Given the description of an element on the screen output the (x, y) to click on. 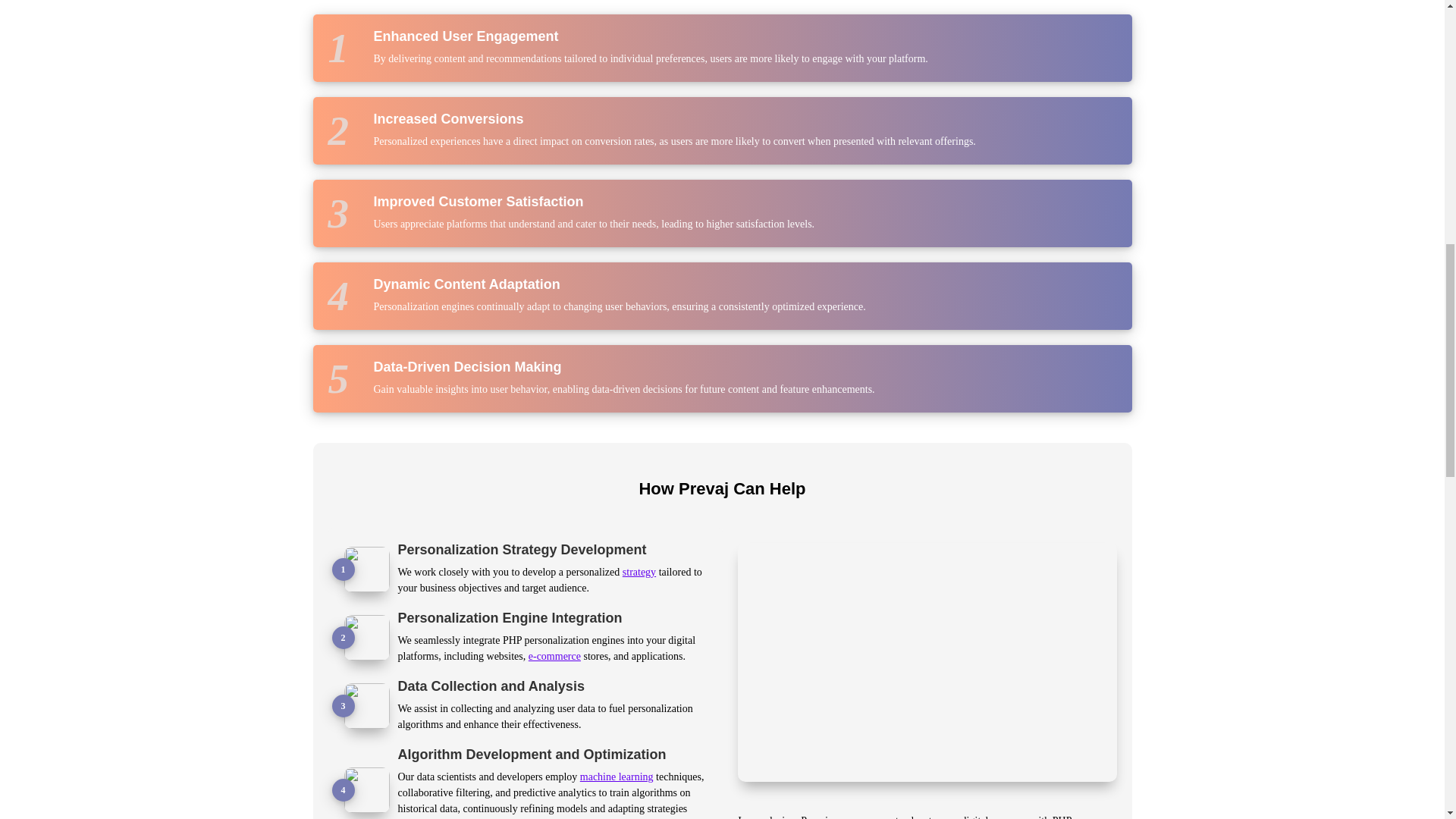
YouTube video player (927, 662)
machine learning (616, 776)
e-commerce (554, 655)
strategy (639, 572)
